Given the description of an element on the screen output the (x, y) to click on. 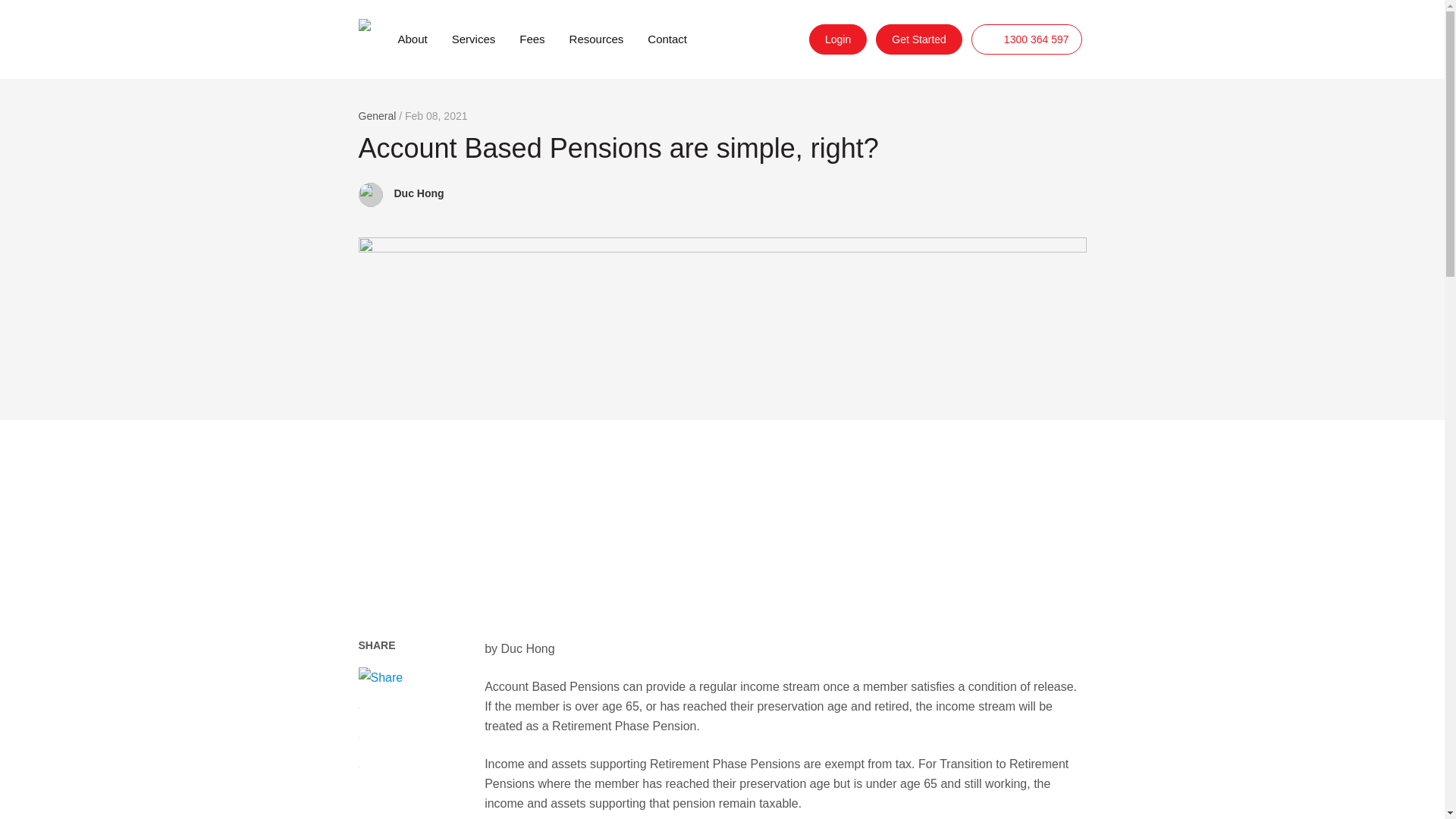
Services (473, 38)
Login (837, 39)
1300 364 597 (1026, 39)
Get Started (919, 39)
About (411, 38)
Fees (531, 38)
Resources (596, 38)
Contact (667, 38)
General (377, 115)
